Given the description of an element on the screen output the (x, y) to click on. 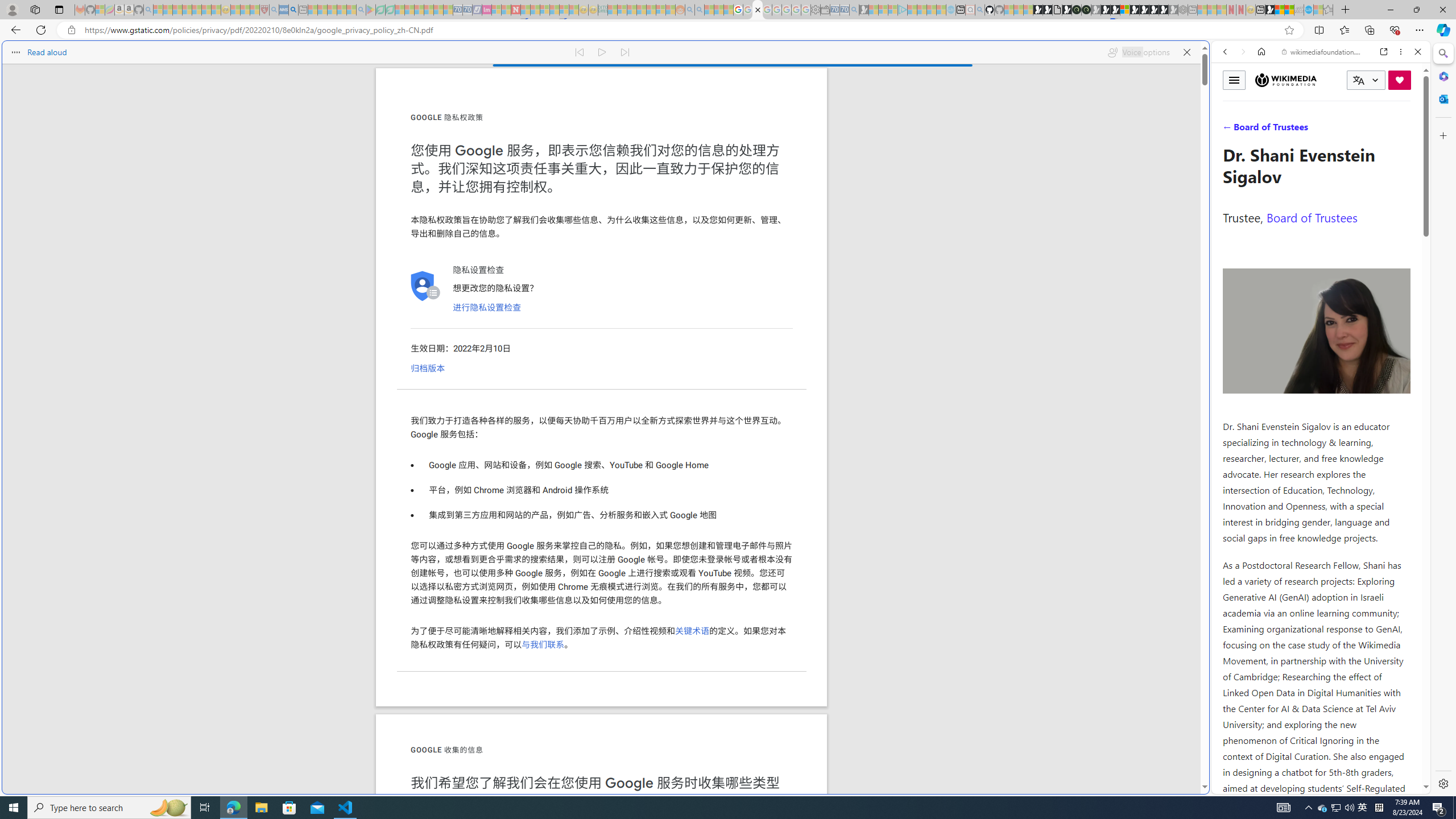
Board of Trustees (1311, 217)
Toggle menu (1233, 80)
Tabs you've opened (885, 151)
